Given the description of an element on the screen output the (x, y) to click on. 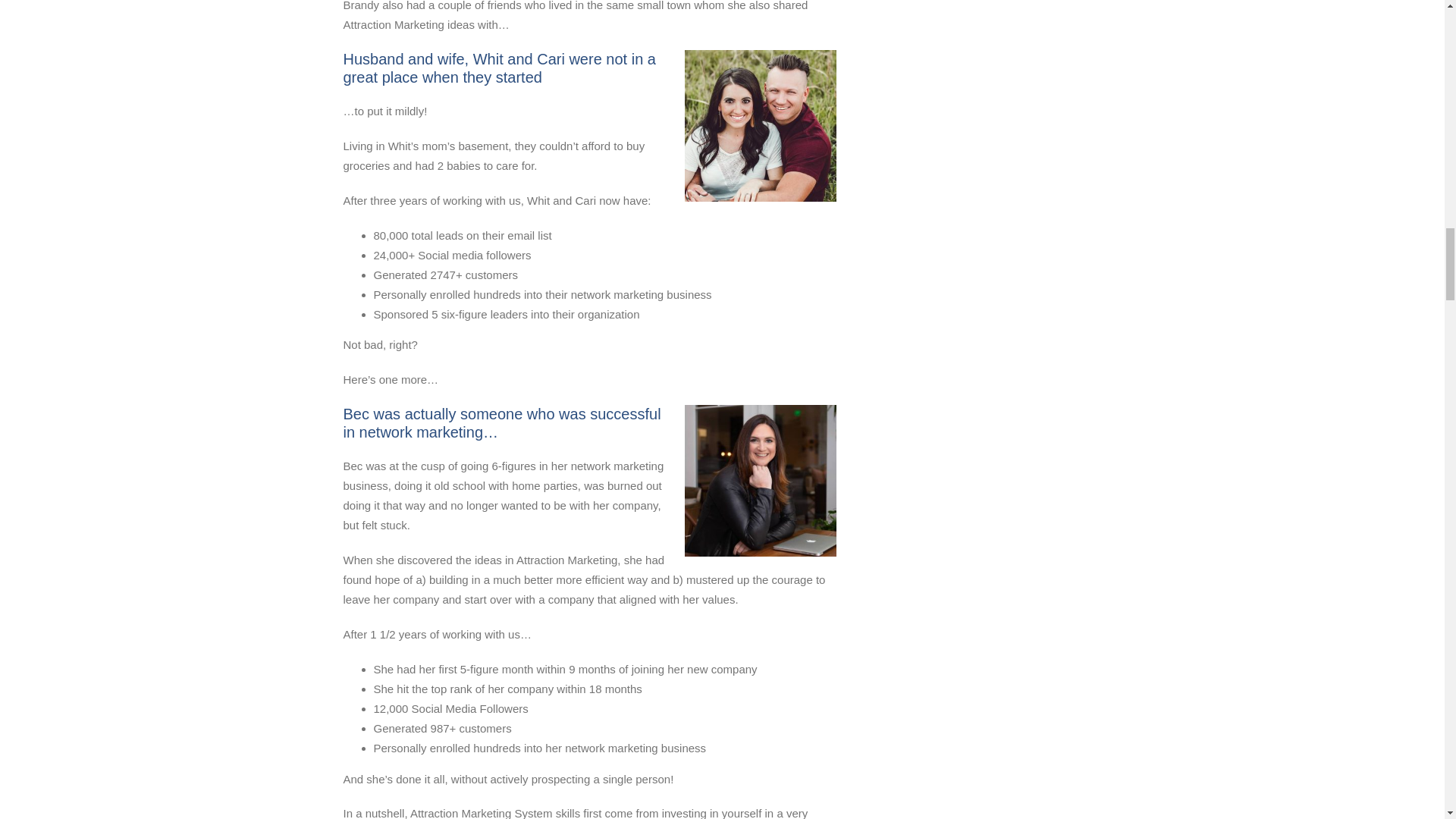
Attraction Marketing System (759, 480)
Attraction Marketing System (759, 125)
